Given the description of an element on the screen output the (x, y) to click on. 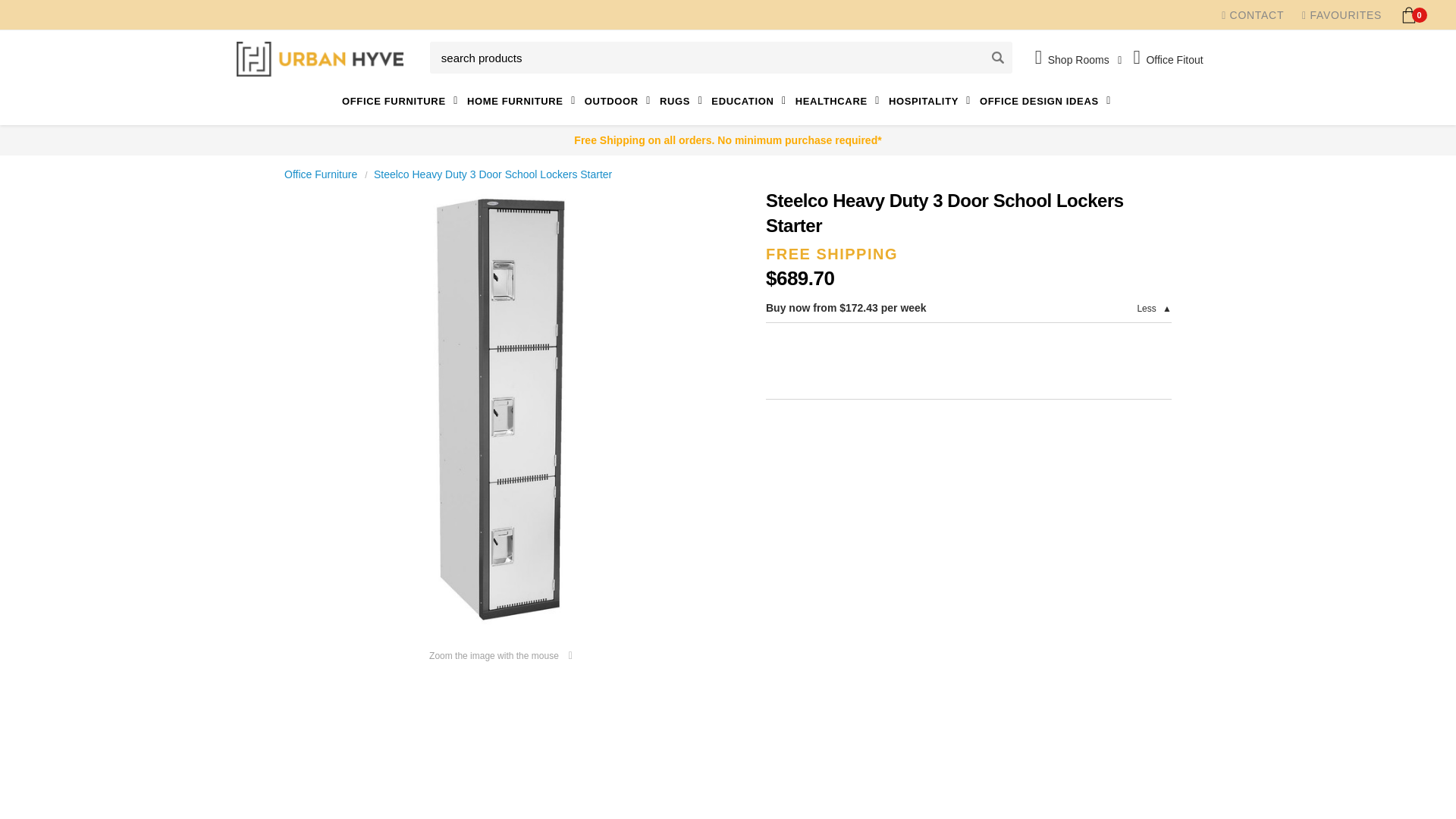
HEALTHCARE (838, 100)
0 (1408, 13)
OUTDOOR (619, 100)
OFFICE FURNITURE (401, 100)
EDUCATION (750, 100)
 FAVOURITES (1341, 15)
HOME FURNITURE (522, 100)
 CONTACT (1252, 15)
Urban Hyve (319, 58)
  Shop Rooms   (1078, 59)
  Office Fitout   (1170, 57)
RUGS (682, 100)
